Given the description of an element on the screen output the (x, y) to click on. 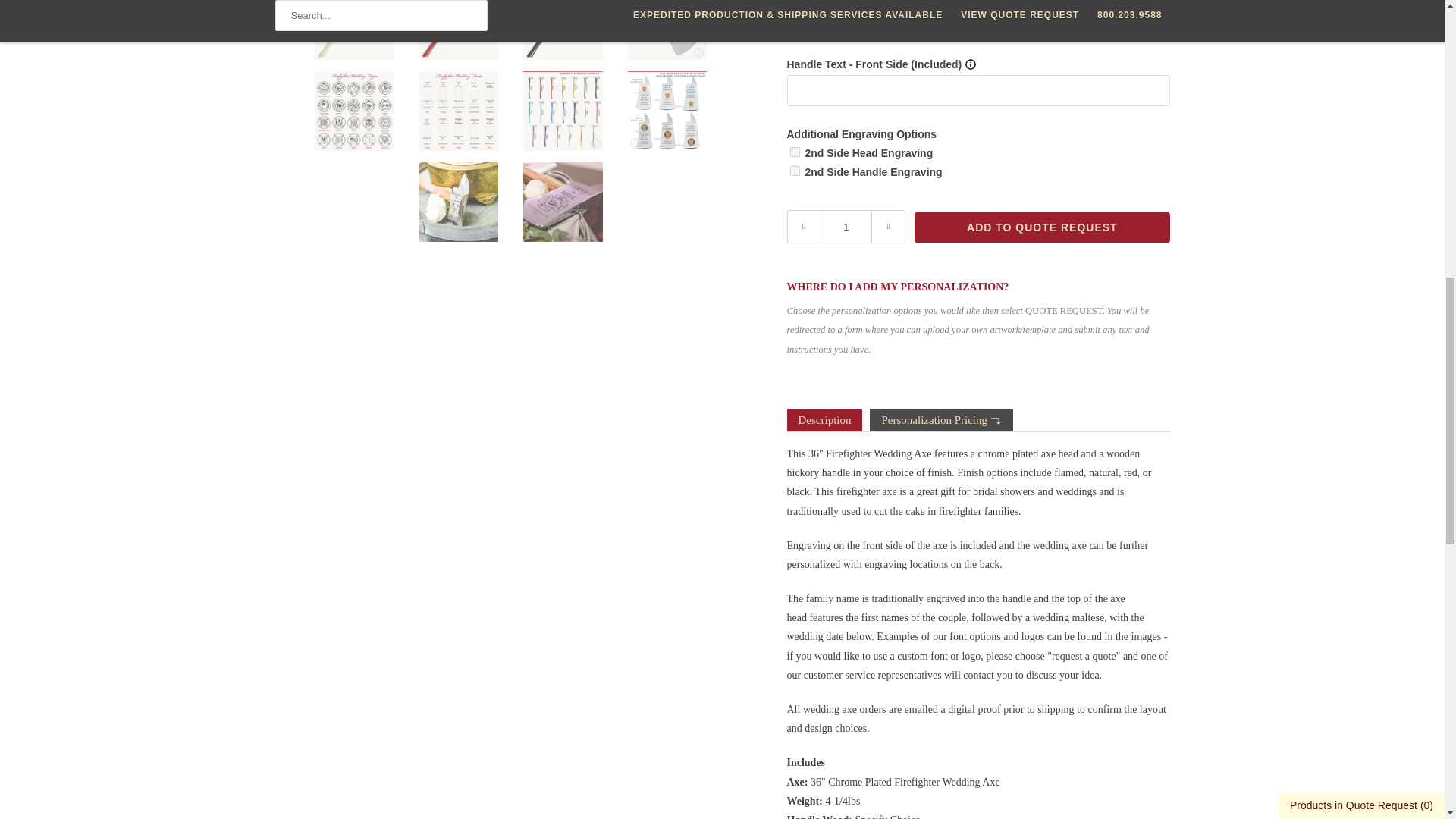
2nd Side Head Engraving (794, 152)
ADD TO QUOTE REQUEST (1041, 227)
Description (825, 419)
1 (846, 226)
2nd Side Handle Engraving (794, 171)
